Given the description of an element on the screen output the (x, y) to click on. 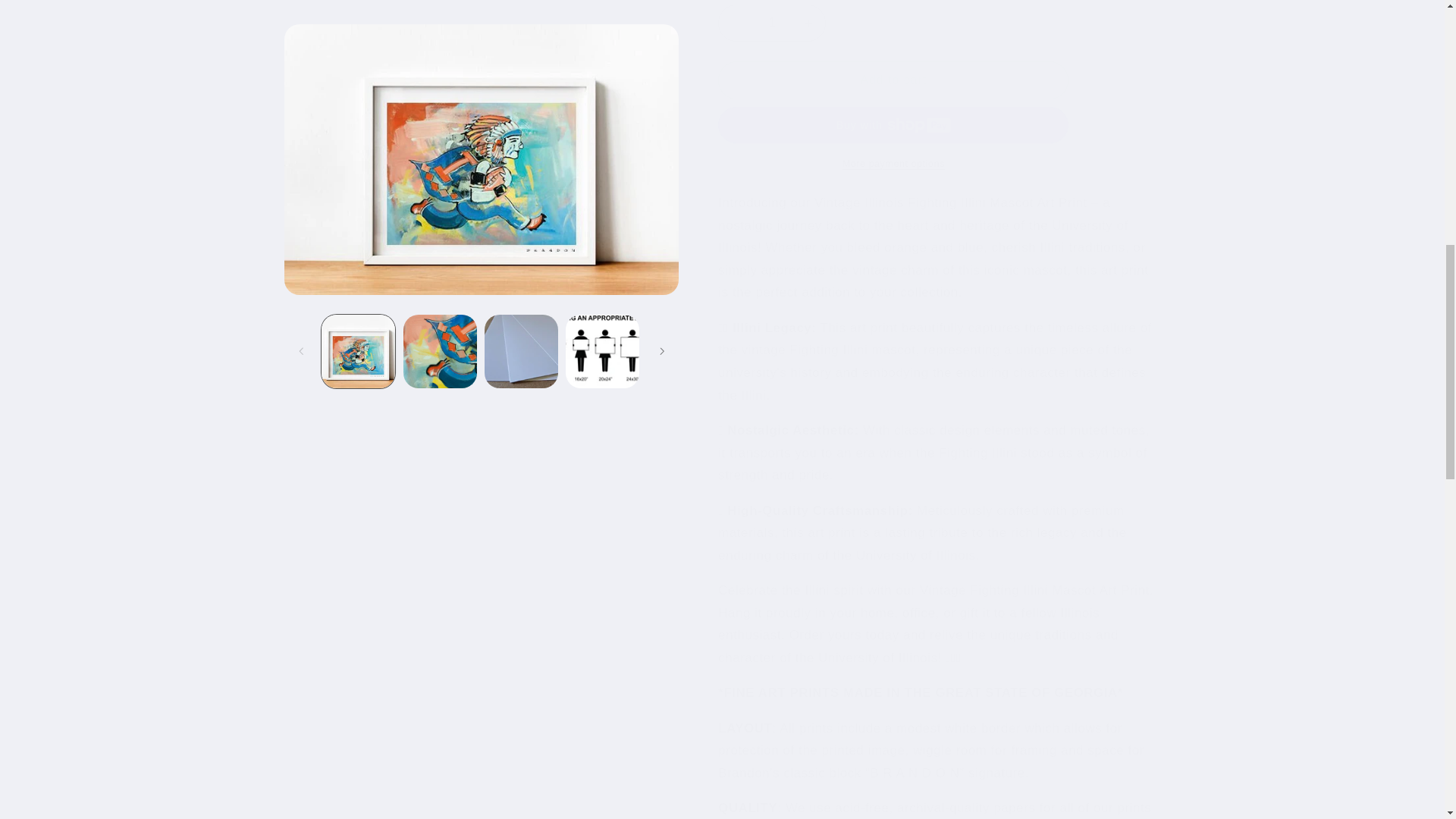
1 (771, 14)
